Given the description of an element on the screen output the (x, y) to click on. 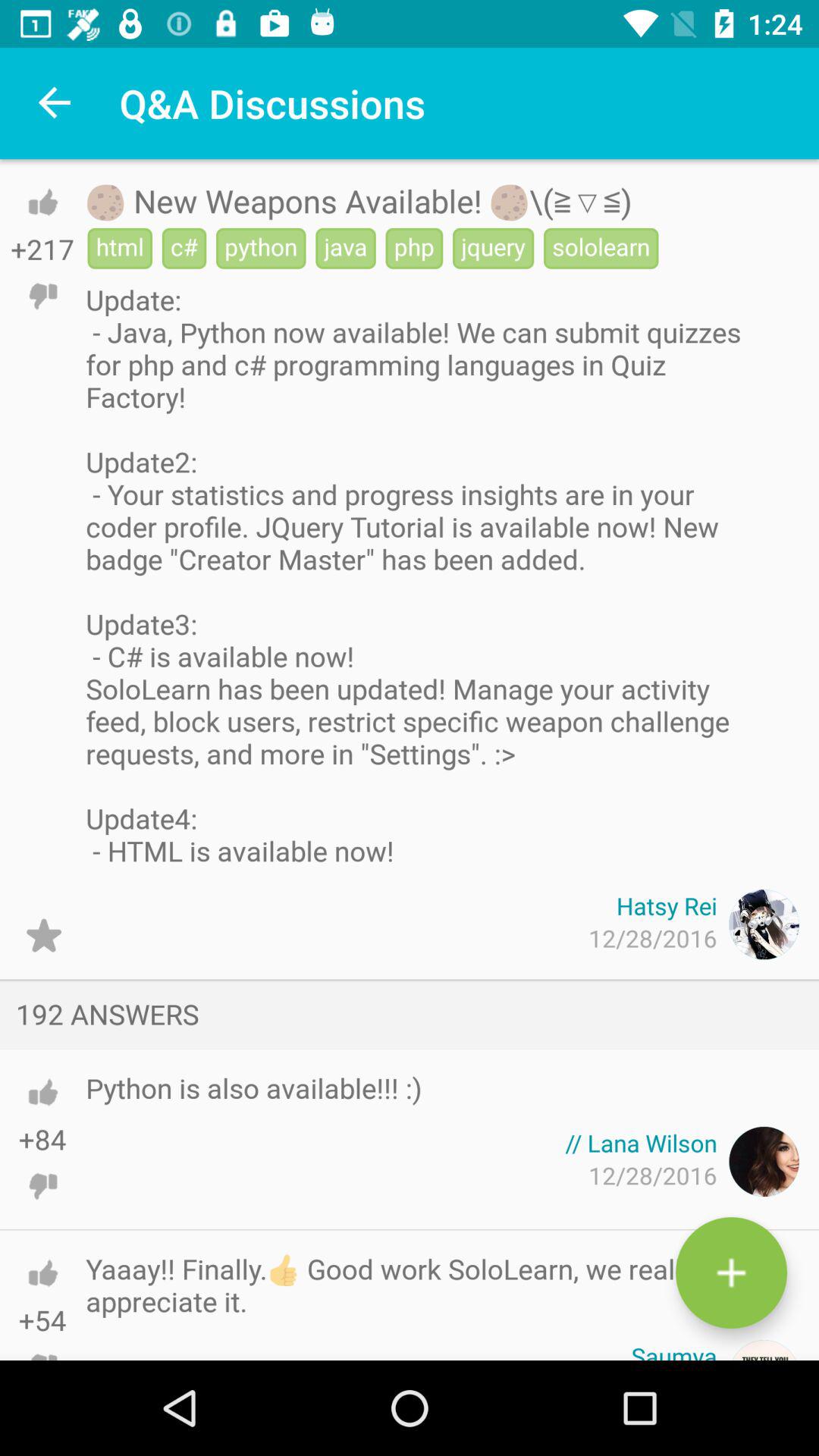
launch the item above the hatsy rei (416, 574)
